Given the description of an element on the screen output the (x, y) to click on. 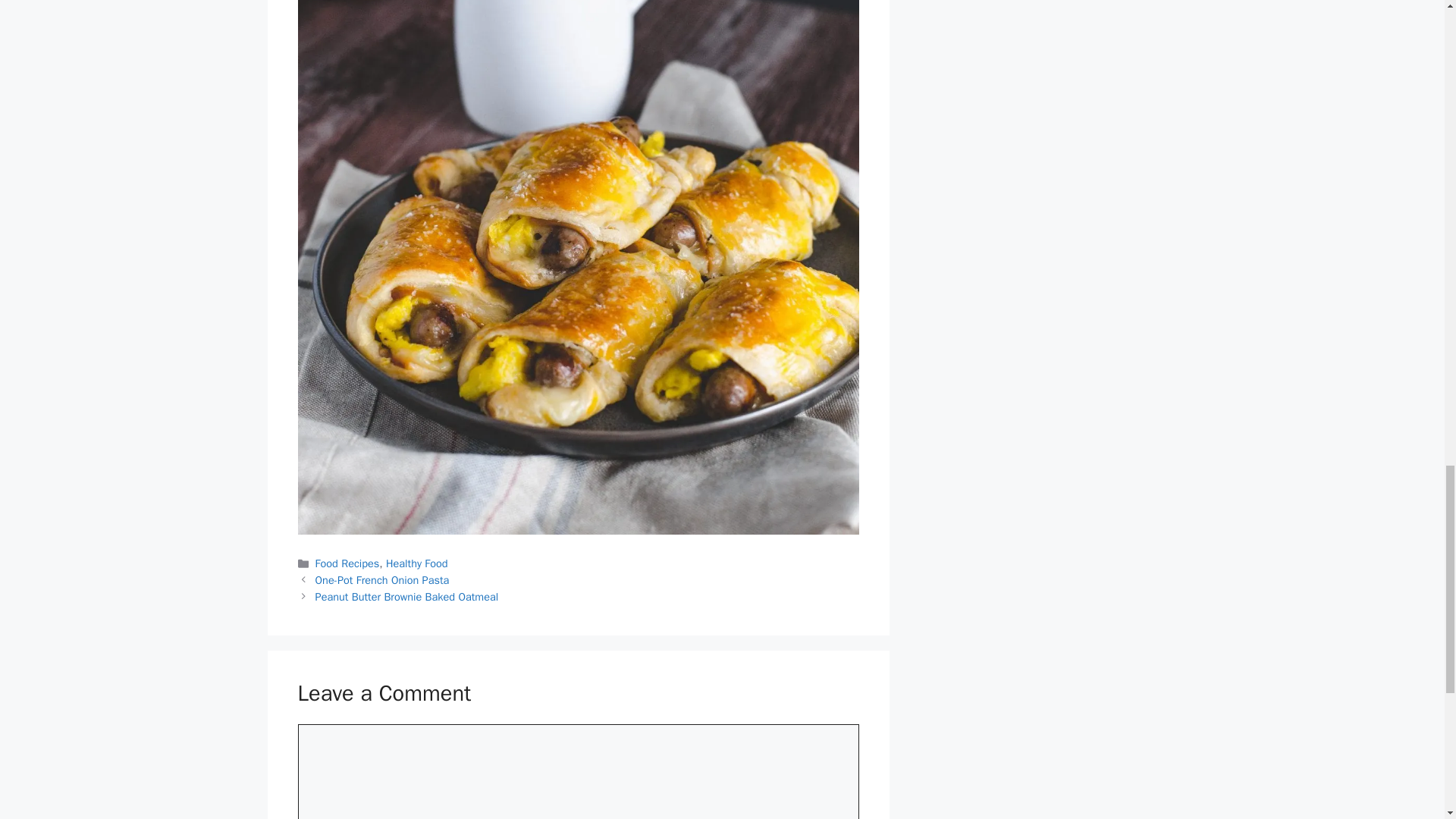
Peanut Butter Brownie Baked Oatmeal (407, 596)
Food Recipes (347, 563)
Healthy Food (416, 563)
One-Pot French Onion Pasta (382, 580)
